Given the description of an element on the screen output the (x, y) to click on. 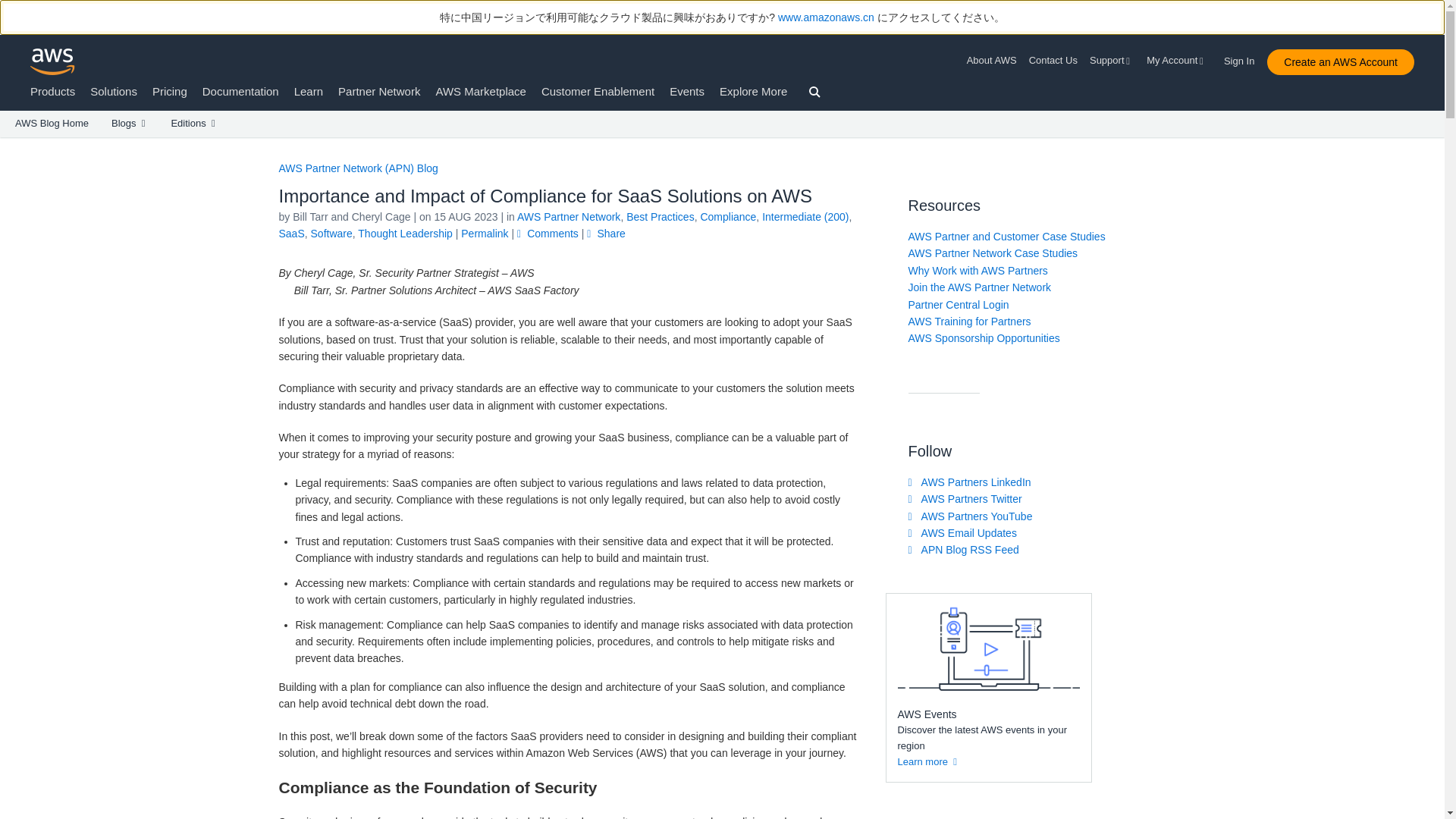
View all posts in SaaS (291, 233)
Learn (308, 91)
Partner Network (378, 91)
About AWS (994, 60)
Events (686, 91)
Customer Enablement (597, 91)
Click here to return to Amazon Web Services homepage (52, 61)
Explore More (753, 91)
Pricing (169, 91)
View all posts in Thought Leadership (405, 233)
